Given the description of an element on the screen output the (x, y) to click on. 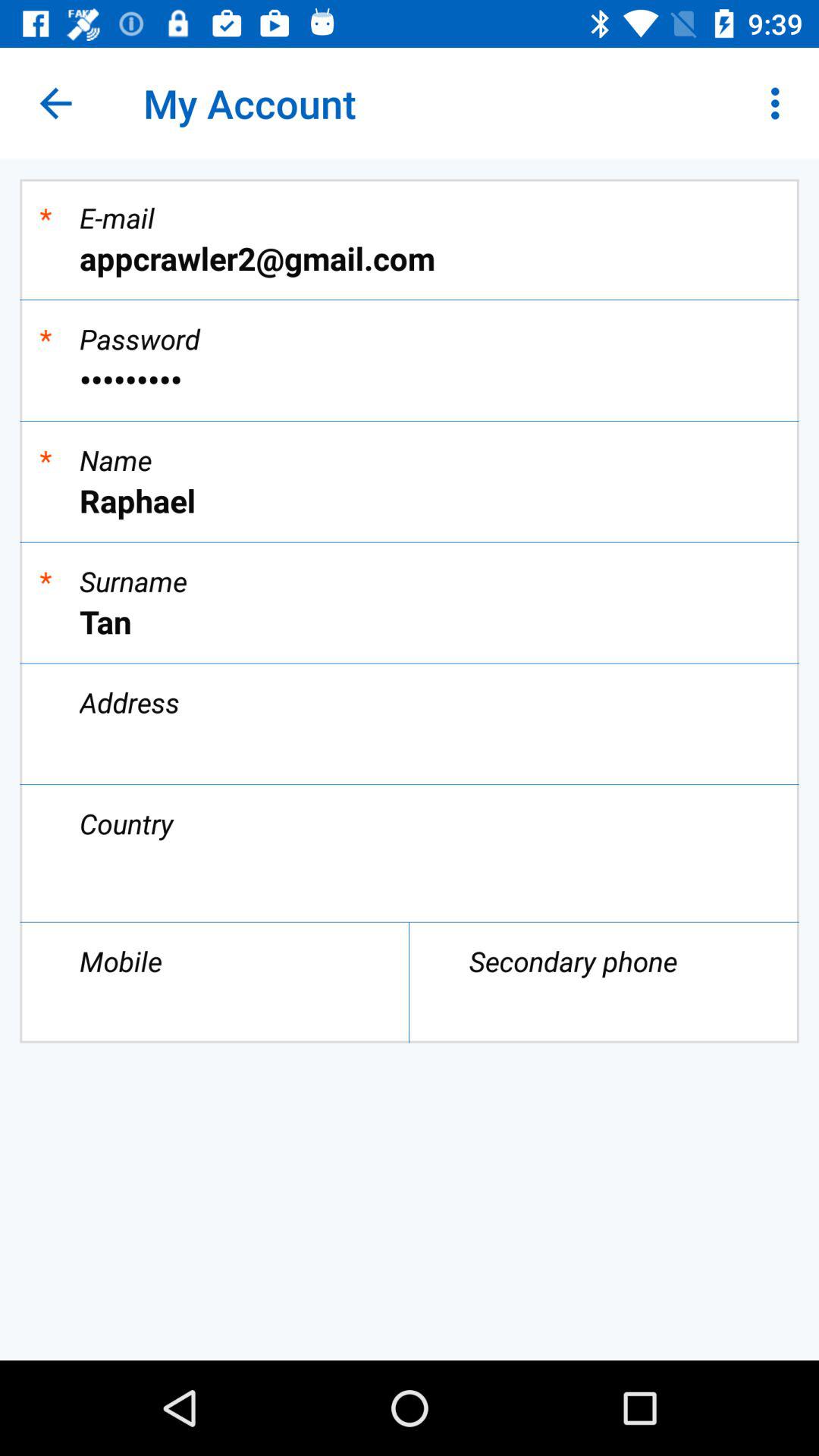
open the crowd3116 (409, 378)
